Given the description of an element on the screen output the (x, y) to click on. 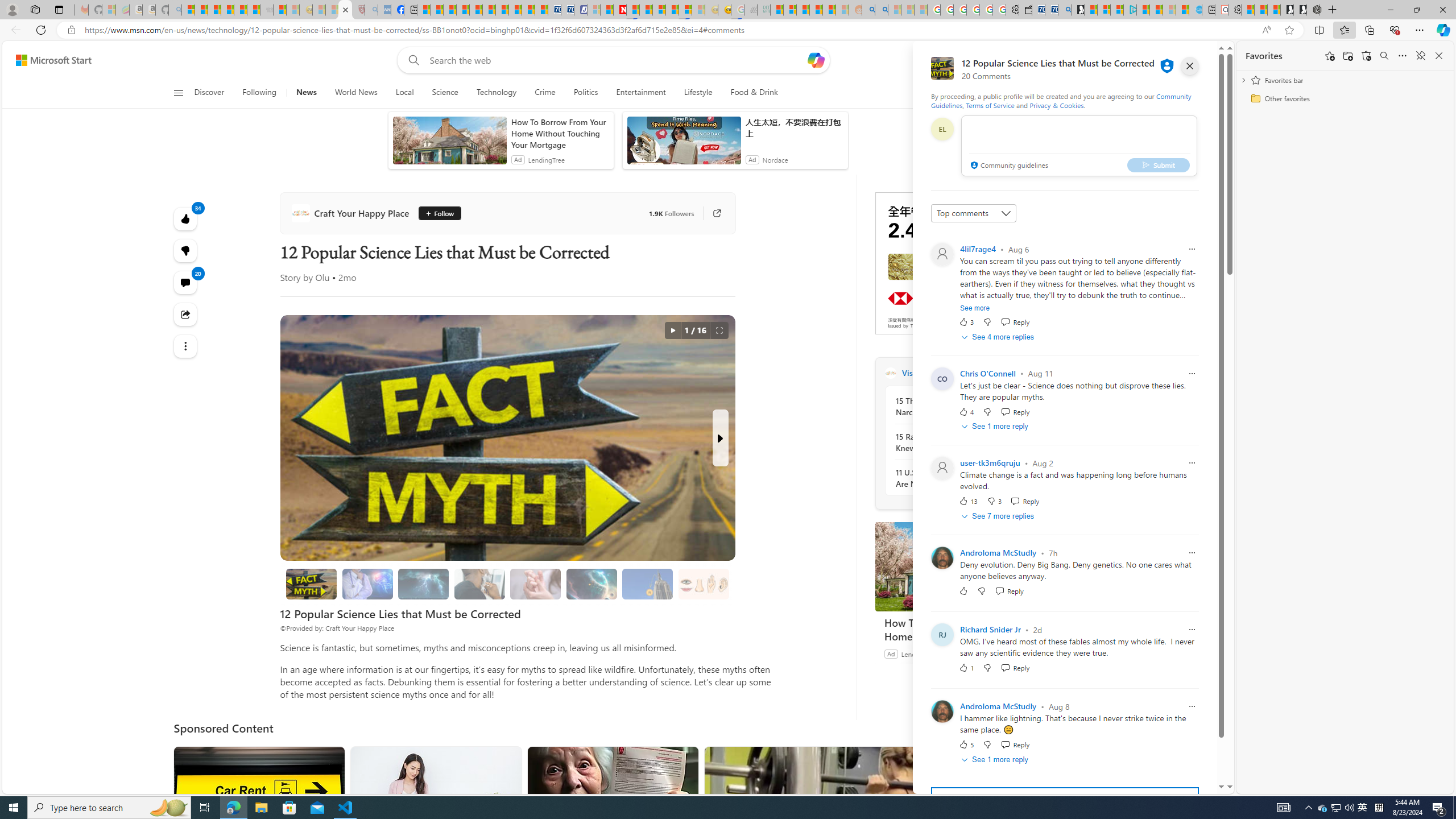
Follow (439, 213)
Knuckle Cracking and Arthritis (534, 583)
See more comments (1064, 800)
Visit Craft Your Happy Place website (1031, 372)
comment-box (1078, 145)
Shaving and Hair Growth (479, 583)
